Given the description of an element on the screen output the (x, y) to click on. 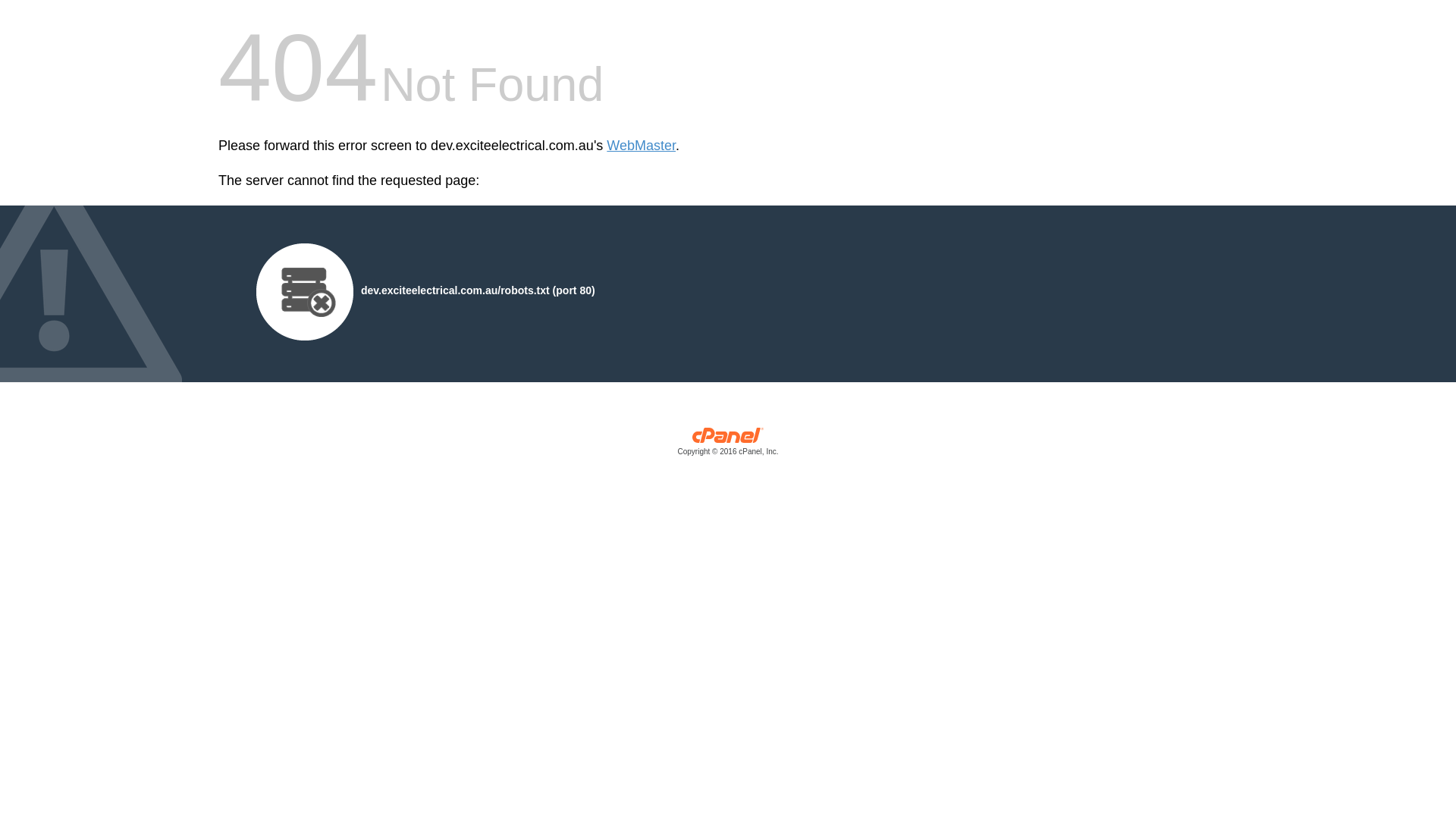
WebMaster Element type: text (640, 145)
